Given the description of an element on the screen output the (x, y) to click on. 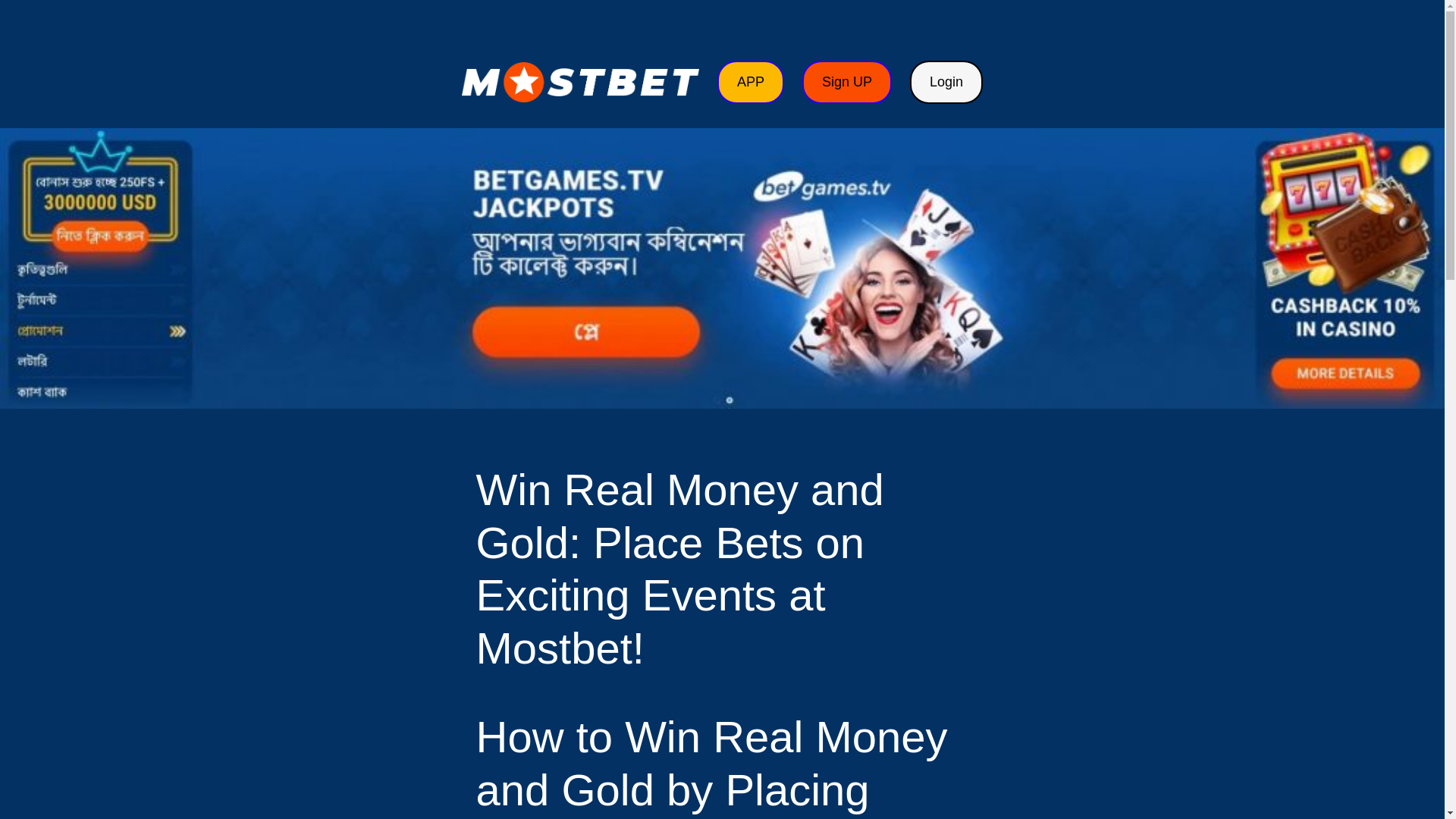
Sign UP (846, 82)
Login (946, 82)
APP (750, 82)
